Given the description of an element on the screen output the (x, y) to click on. 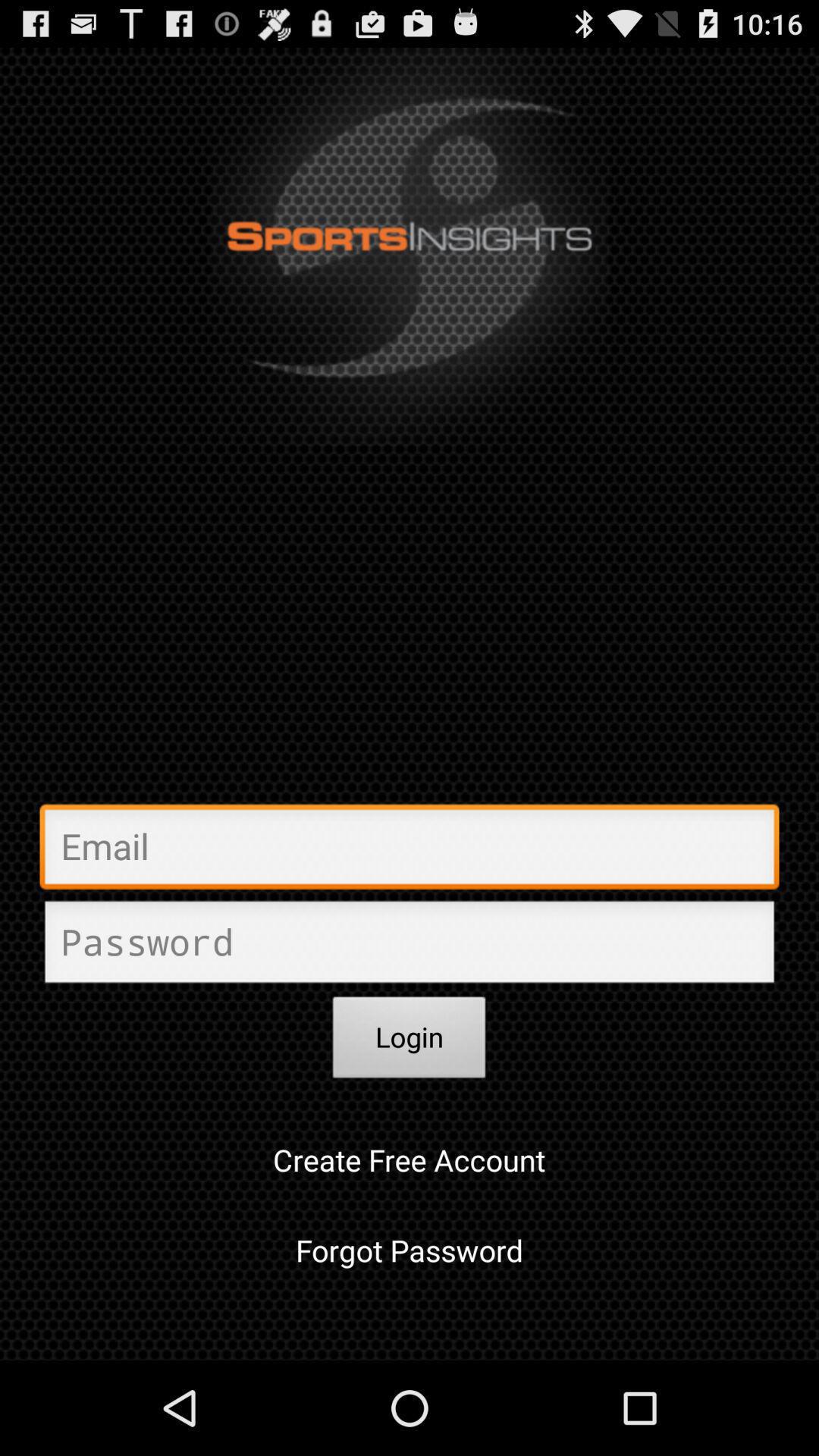
enter password (409, 946)
